Given the description of an element on the screen output the (x, y) to click on. 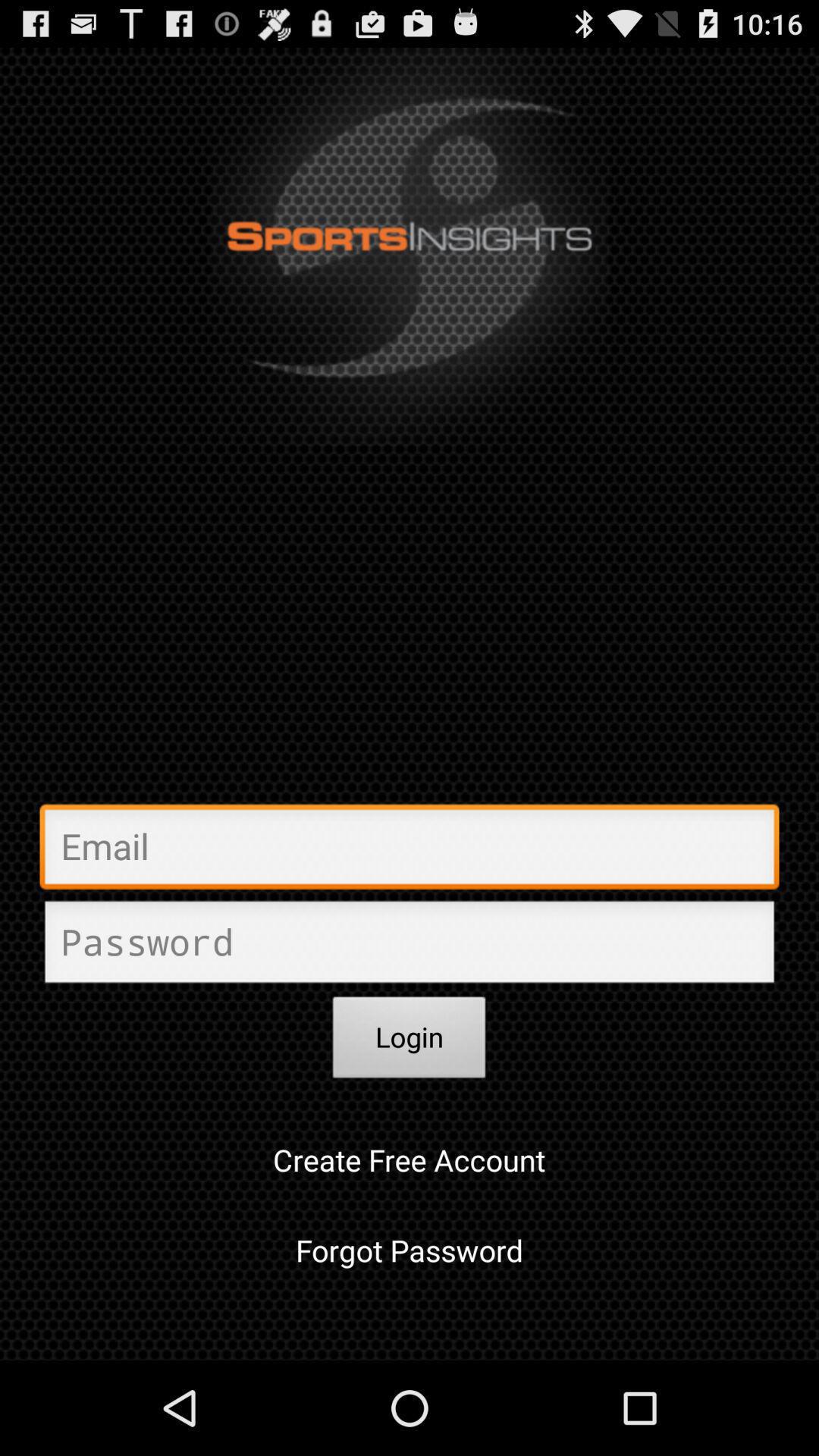
enter password (409, 946)
